Given the description of an element on the screen output the (x, y) to click on. 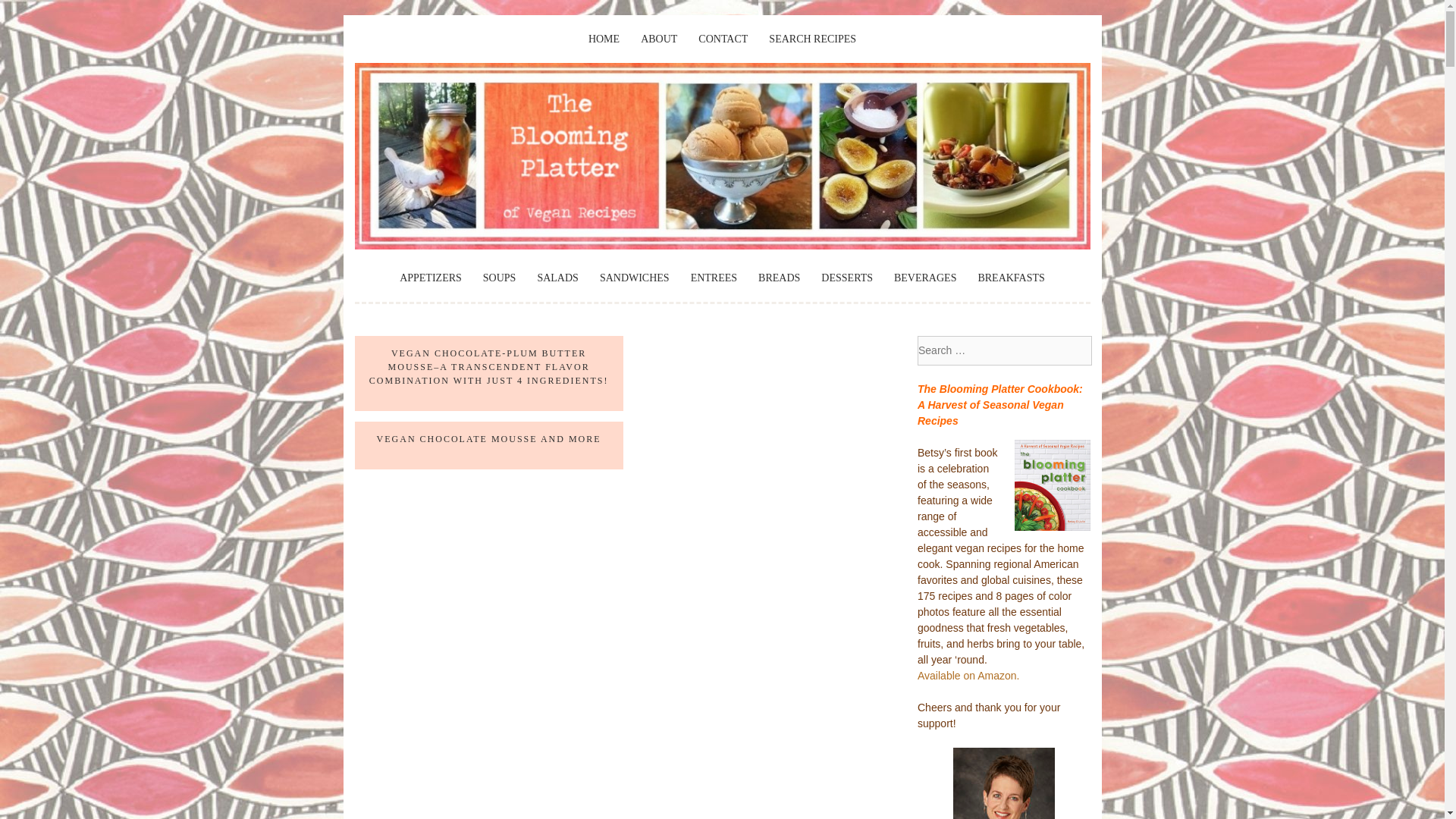
BEVERAGES (924, 277)
CONTACT (723, 38)
APPETIZERS (429, 277)
ENTREES (713, 277)
BREAKFASTS (1009, 277)
BREADS (778, 277)
SALADS (557, 277)
DESSERTS (846, 277)
ABOUT (658, 38)
HOME (604, 38)
SEARCH RECIPES (812, 38)
SOUPS (499, 277)
VEGAN CHOCOLATE MOUSSE AND MORE (489, 439)
